Given the description of an element on the screen output the (x, y) to click on. 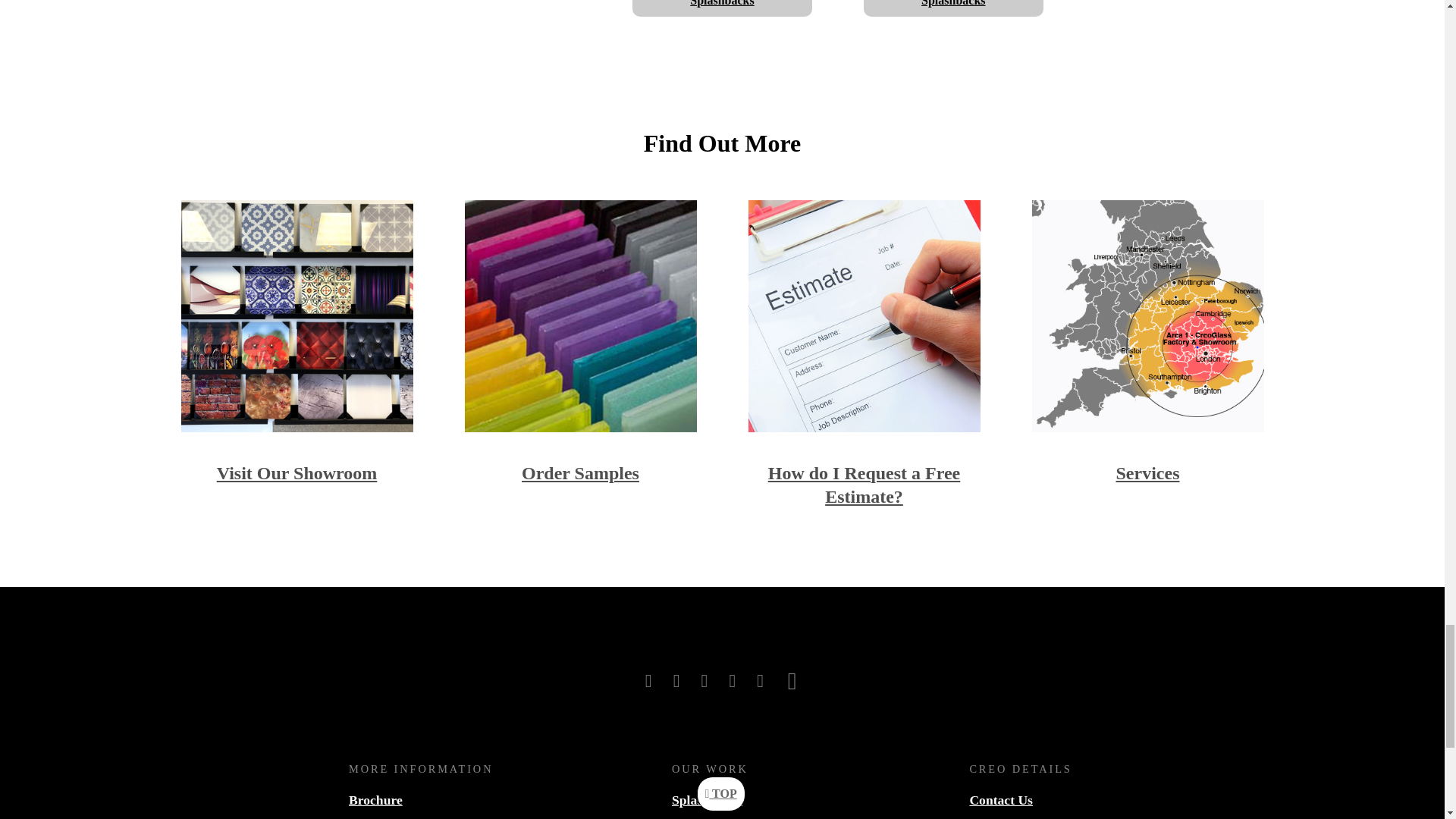
Brochure (376, 799)
Facebook (651, 680)
LinkedIn (734, 680)
Instagram (706, 680)
Twitter (679, 680)
Pinterest (792, 680)
YouTube (762, 680)
